Given the description of an element on the screen output the (x, y) to click on. 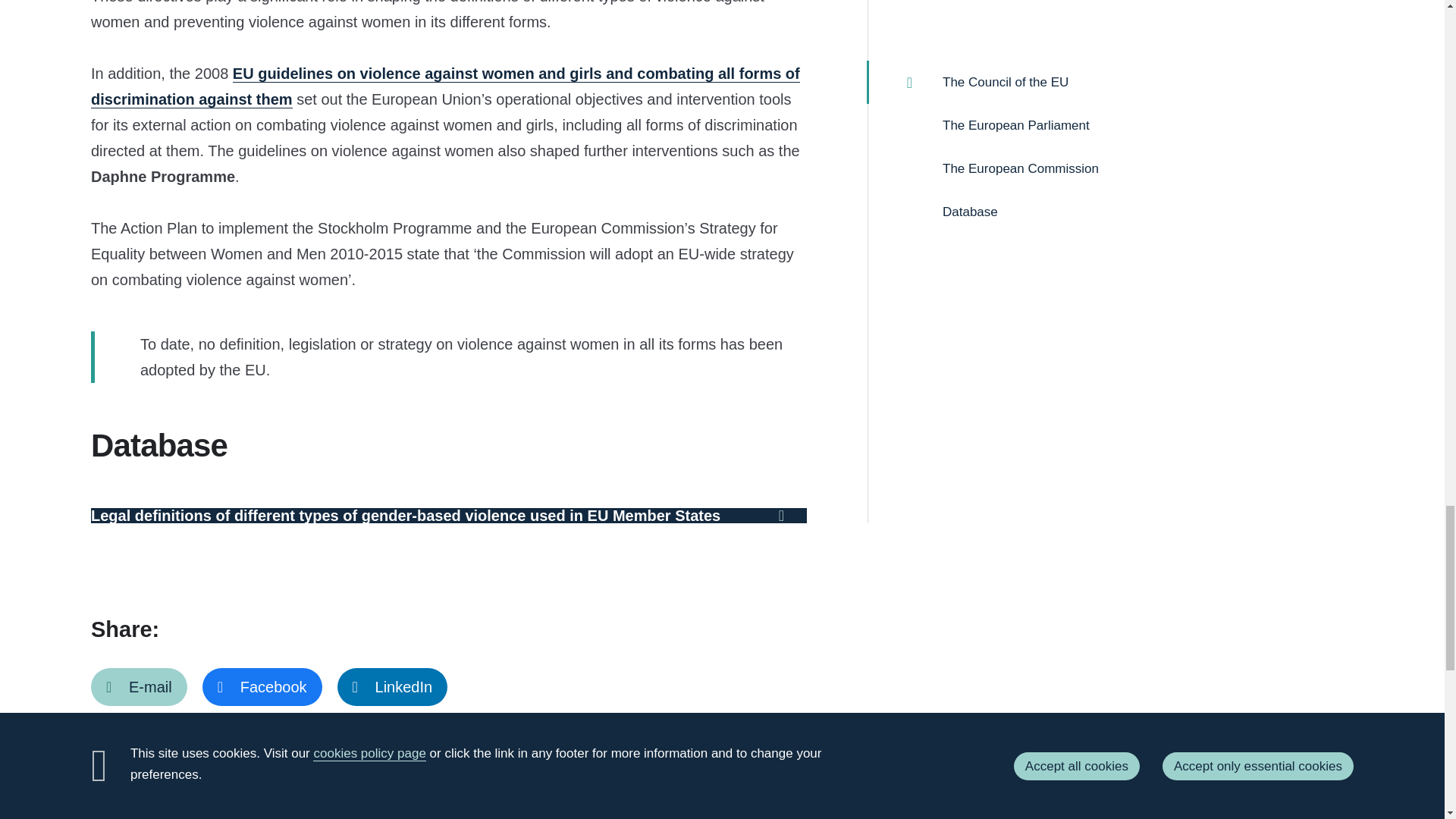
Facebook (261, 686)
E-mail (138, 686)
LinkedIn (392, 686)
